Given the description of an element on the screen output the (x, y) to click on. 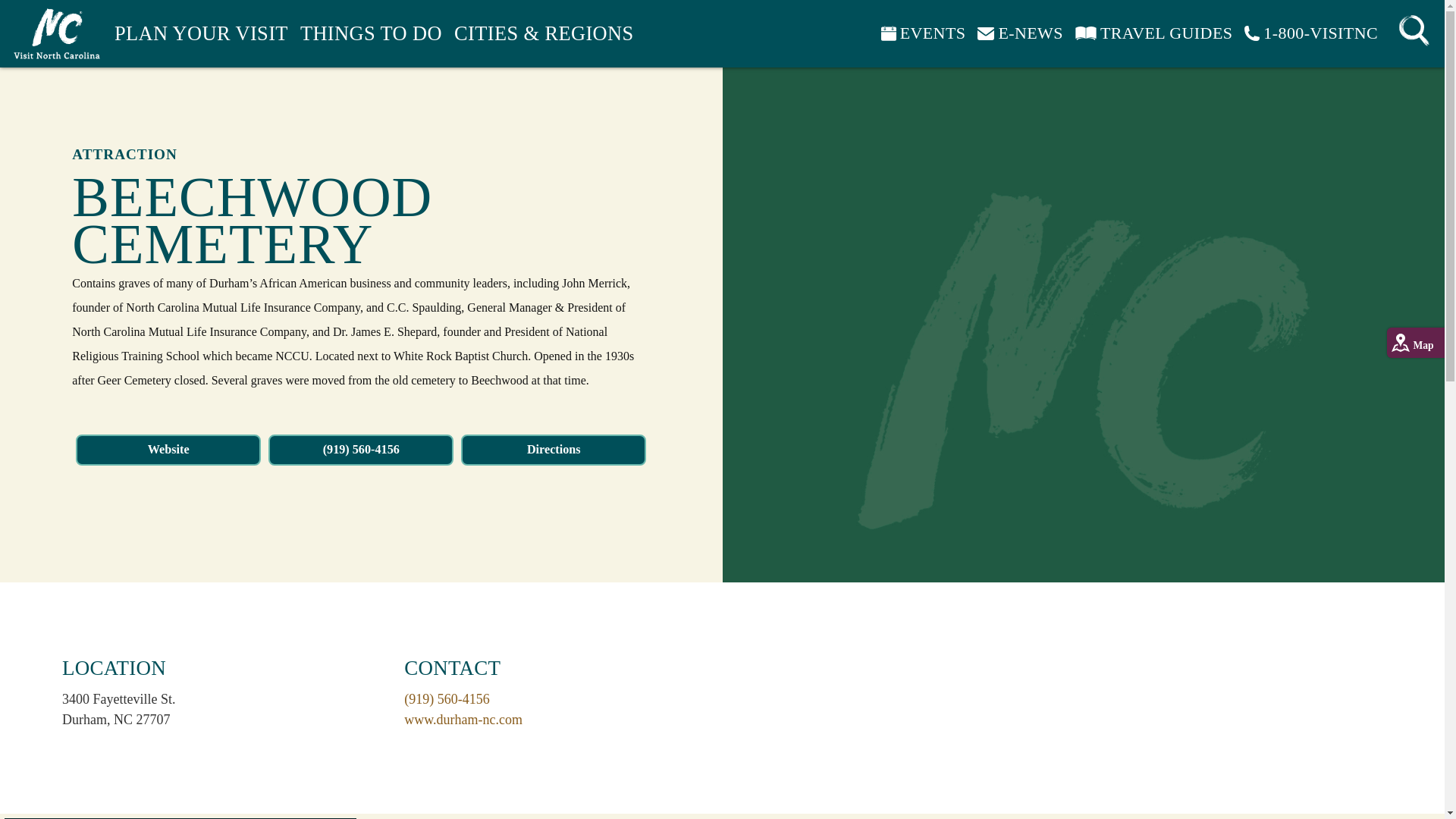
E-NEWS (1019, 32)
1-800-VISITNC (1310, 32)
EVENTS (923, 32)
THINGS TO DO (370, 33)
Call 1-800-VisitNC for NC travel information (1310, 32)
PLAN YOUR VISIT (201, 33)
Directions (553, 450)
TRAVEL GUIDES (1153, 32)
Website (167, 450)
www.durham-nc.com (463, 719)
